Given the description of an element on the screen output the (x, y) to click on. 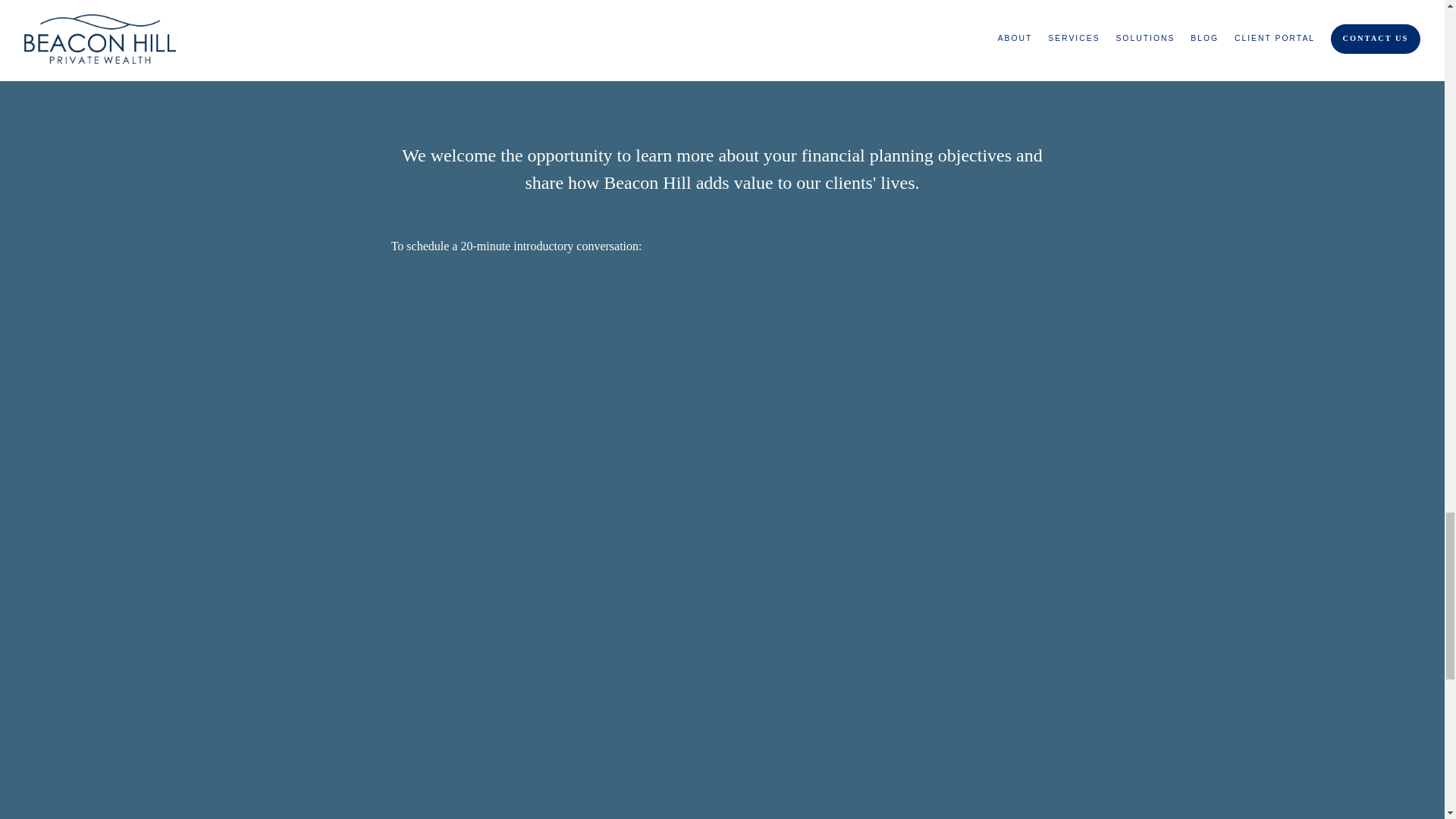
     Email Us (765, 818)
